Given the description of an element on the screen output the (x, y) to click on. 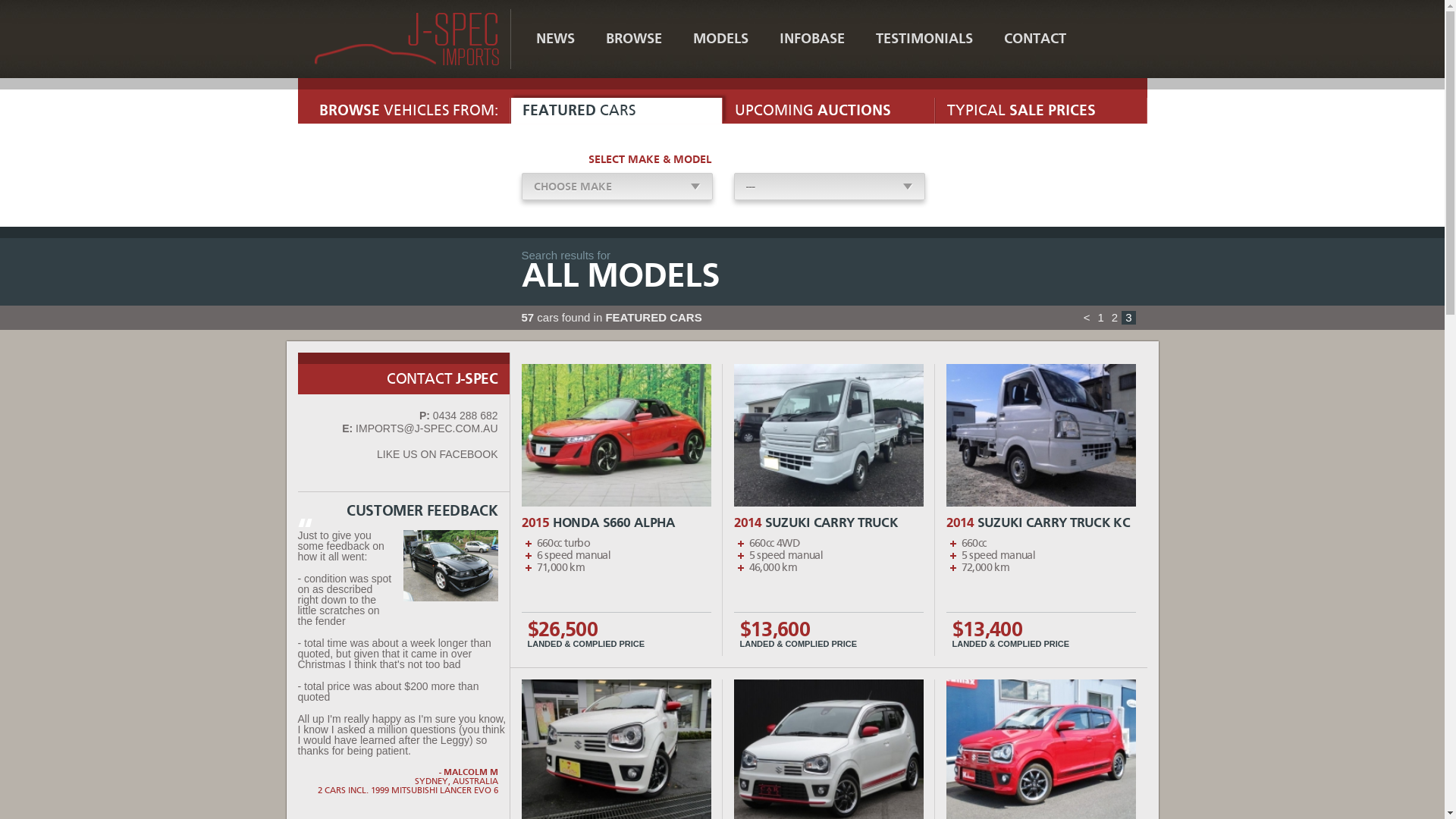
CHOOSE MAKE Element type: text (616, 186)
--- Element type: text (829, 186)
NEWS Element type: text (554, 38)
LIKE US ON FACEBOOK Element type: text (437, 454)
MODELS Element type: text (720, 38)
2014 SUZUKI CARRY TRUCK KC Element type: text (1040, 522)
2015 HONDA S660 ALPHA Element type: text (615, 522)
TYPICAL SALE PRICES Element type: text (1040, 110)
INFOBASE Element type: text (811, 38)
TESTIMONIALS Element type: text (923, 38)
$26,500
LANDED & COMPLIED PRICE Element type: text (616, 633)
< Element type: text (1086, 317)
CONTACT Element type: text (1034, 38)
$13,600
LANDED & COMPLIED PRICE Element type: text (828, 633)
BROWSE Element type: text (632, 38)
UPCOMING AUCTIONS Element type: text (827, 110)
1 Element type: text (1100, 317)
$13,400
LANDED & COMPLIED PRICE Element type: text (1040, 633)
FEATURED CARS Element type: text (615, 110)
2 Element type: text (1114, 317)
IMPORTS@J-SPEC.COM.AU Element type: text (426, 428)
2014 SUZUKI CARRY TRUCK Element type: text (828, 522)
3 Element type: text (1128, 317)
CUSTOMER FEEDBACK Element type: text (402, 510)
